Given the description of an element on the screen output the (x, y) to click on. 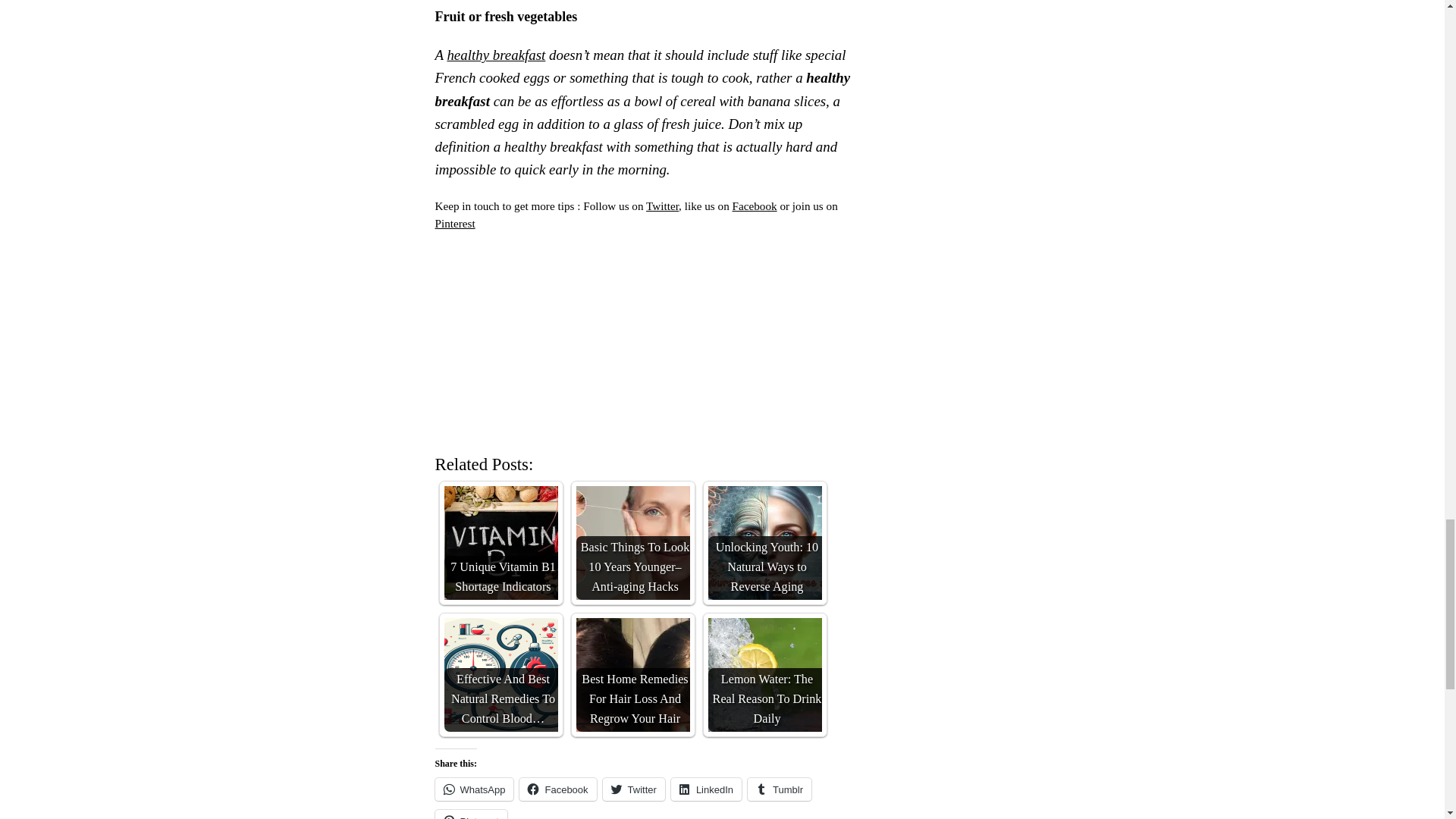
Pinterest (455, 223)
Click to share on LinkedIn (706, 789)
LinkedIn (706, 789)
WhatsApp (474, 789)
Unlocking Youth: 10 Natural Ways to Reverse Aging (764, 542)
7 Unique Vitamin B1 Shortage Indicators (500, 542)
Unlocking Youth: 10 Natural Ways to Reverse Aging (764, 542)
healthy breakfast (495, 55)
Best Home Remedies For Hair Loss And Regrow Your Hair (633, 675)
7 Unique Vitamin B1 Shortage Indicators (500, 542)
